Given the description of an element on the screen output the (x, y) to click on. 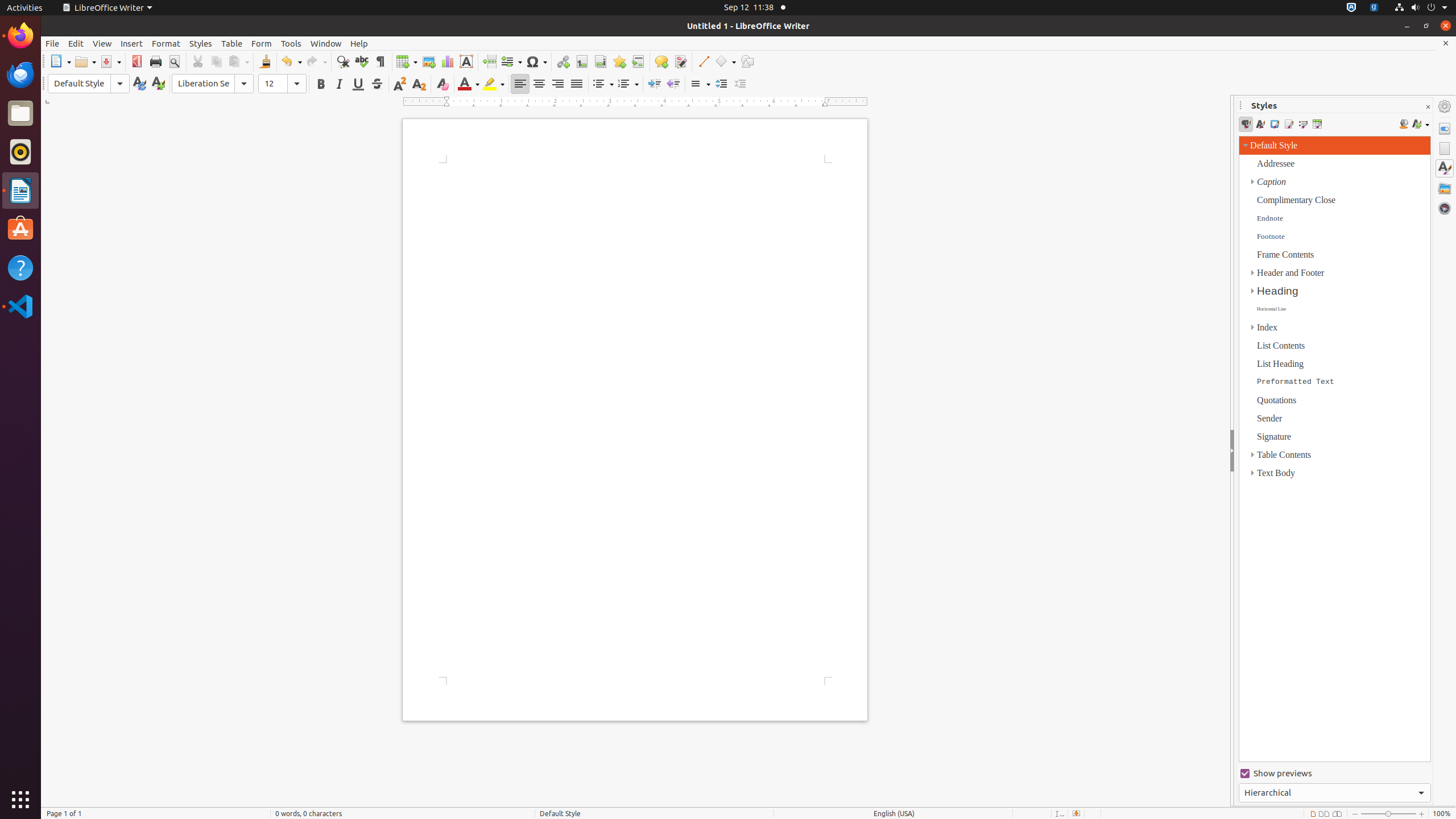
Track Changes Functions Element type: toggle-button (679, 61)
System Element type: menu (1420, 7)
Styles actions Element type: push-button (1420, 123)
Justified Element type: toggle-button (576, 83)
Basic Shapes Element type: push-button (724, 61)
